Given the description of an element on the screen output the (x, y) to click on. 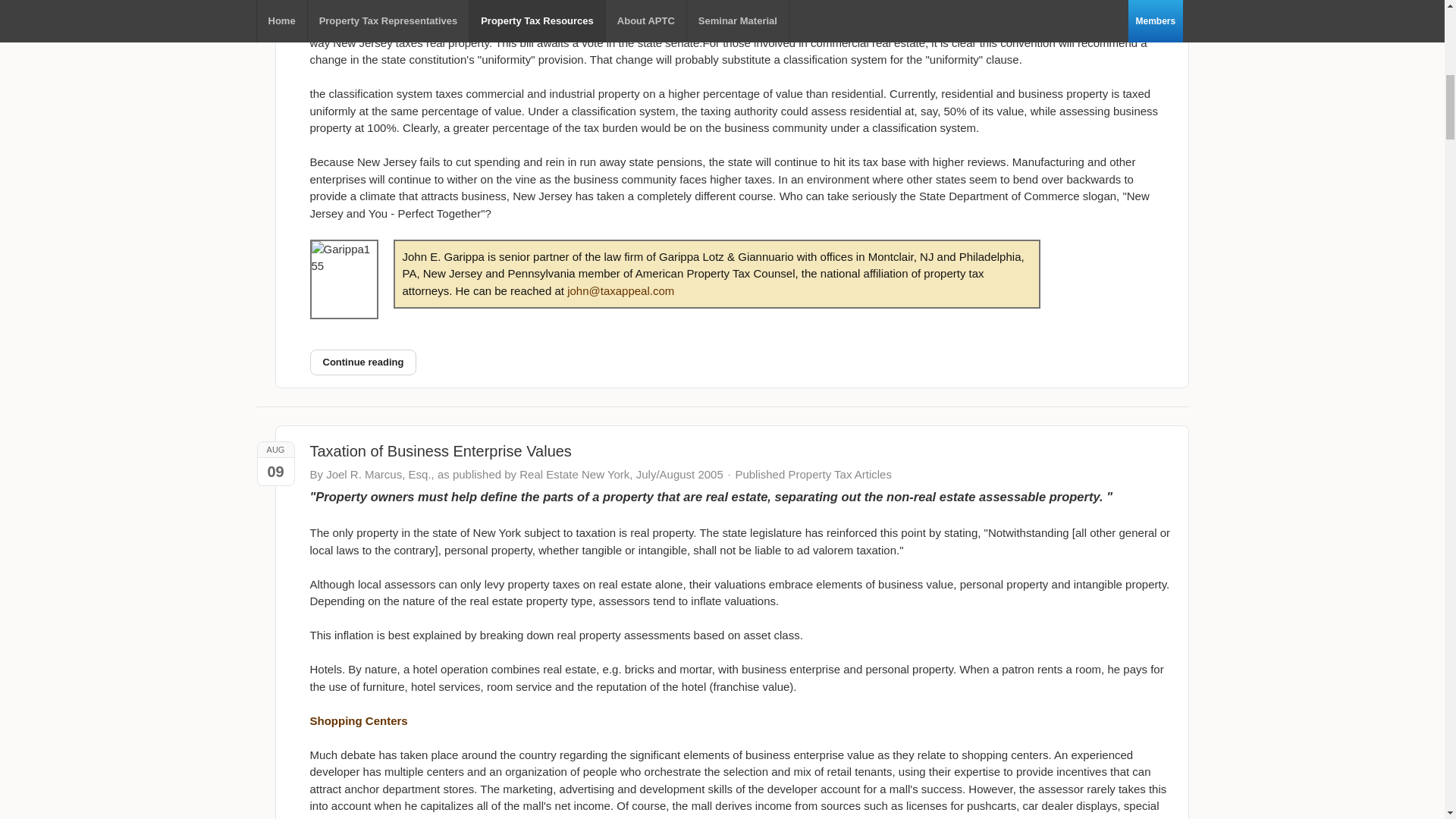
Continue reading (362, 362)
Taxation of Business Enterprise Values (439, 451)
Published Property Tax Articles (813, 474)
